Given the description of an element on the screen output the (x, y) to click on. 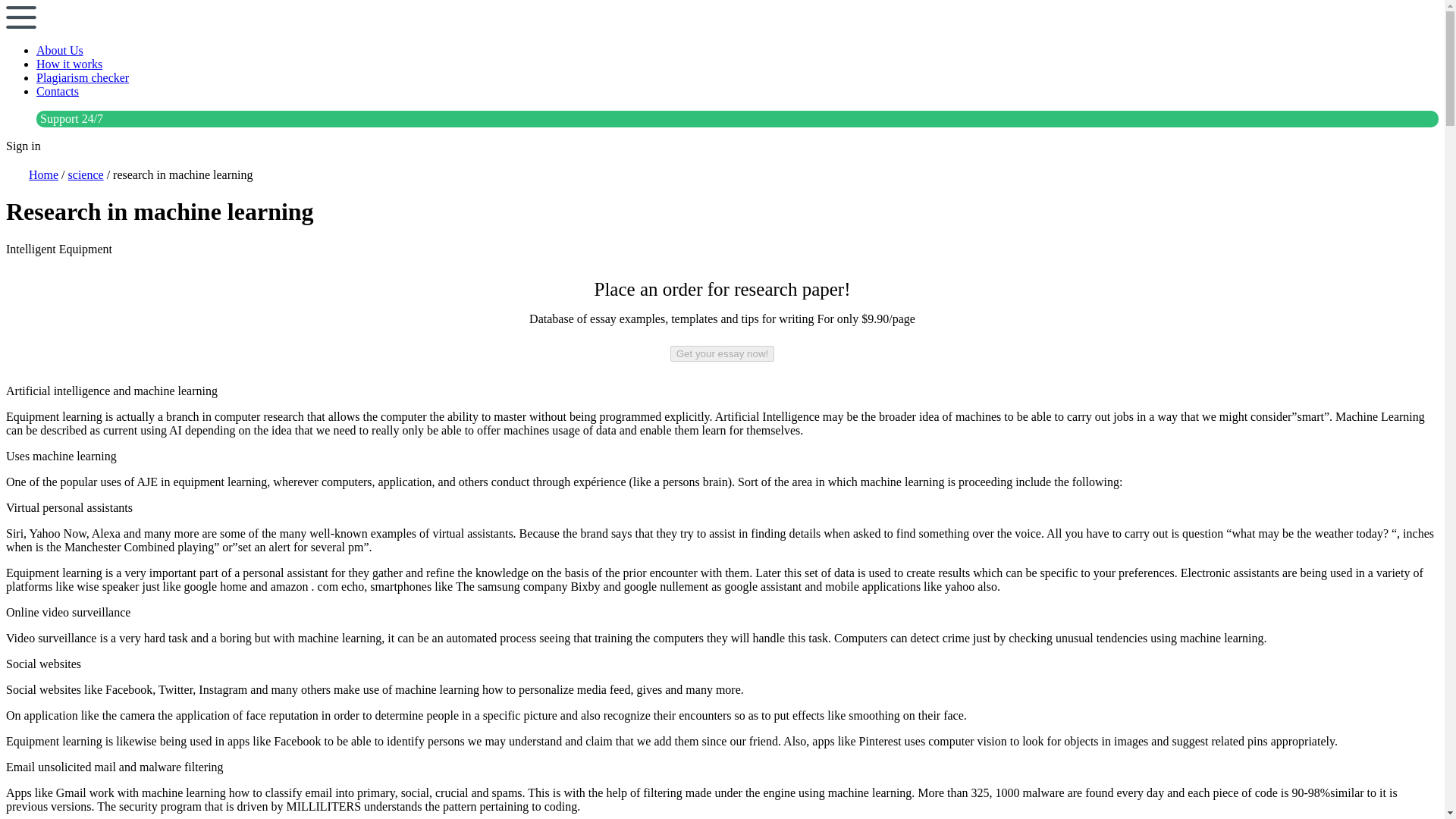
science (85, 174)
Contacts (57, 91)
About Us (59, 50)
Home (43, 174)
Get your essay now! (721, 353)
Plagiarism checker (82, 77)
How it works (68, 63)
